Given the description of an element on the screen output the (x, y) to click on. 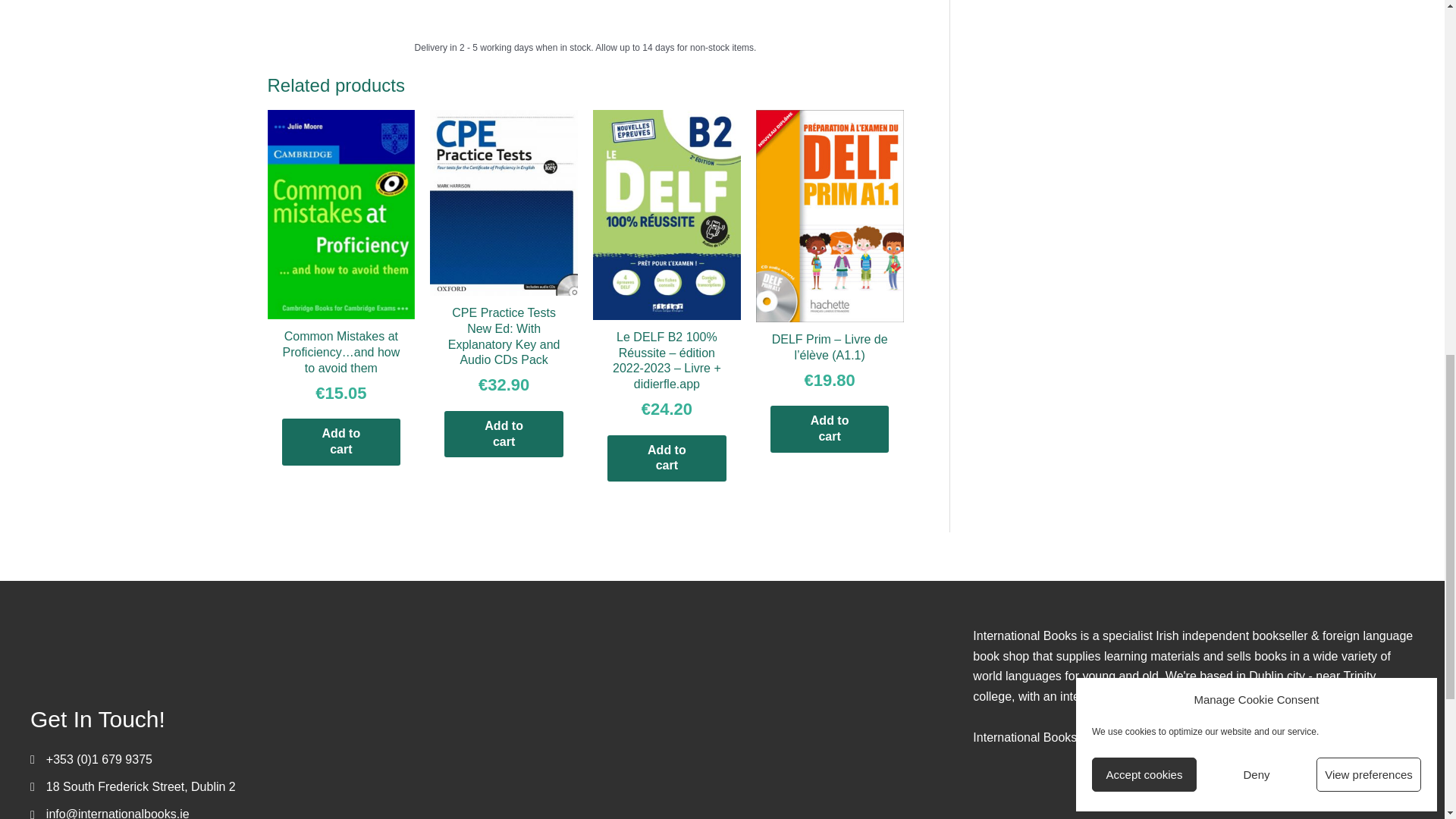
logo-leo (1193, 809)
logo-stripe-secure-payments-1 (722, 712)
logo-white (181, 649)
